Given the description of an element on the screen output the (x, y) to click on. 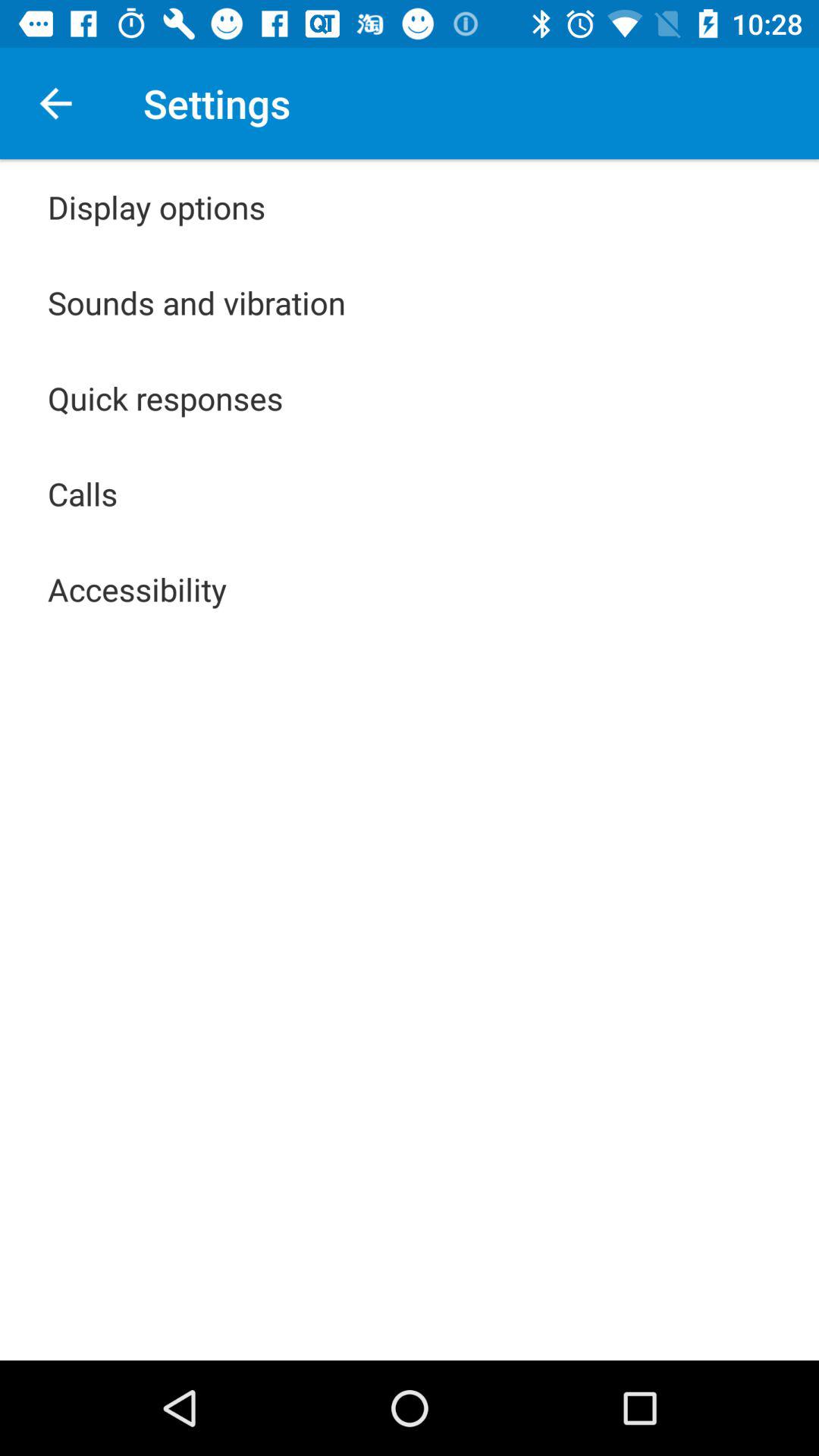
turn on quick responses app (165, 397)
